Given the description of an element on the screen output the (x, y) to click on. 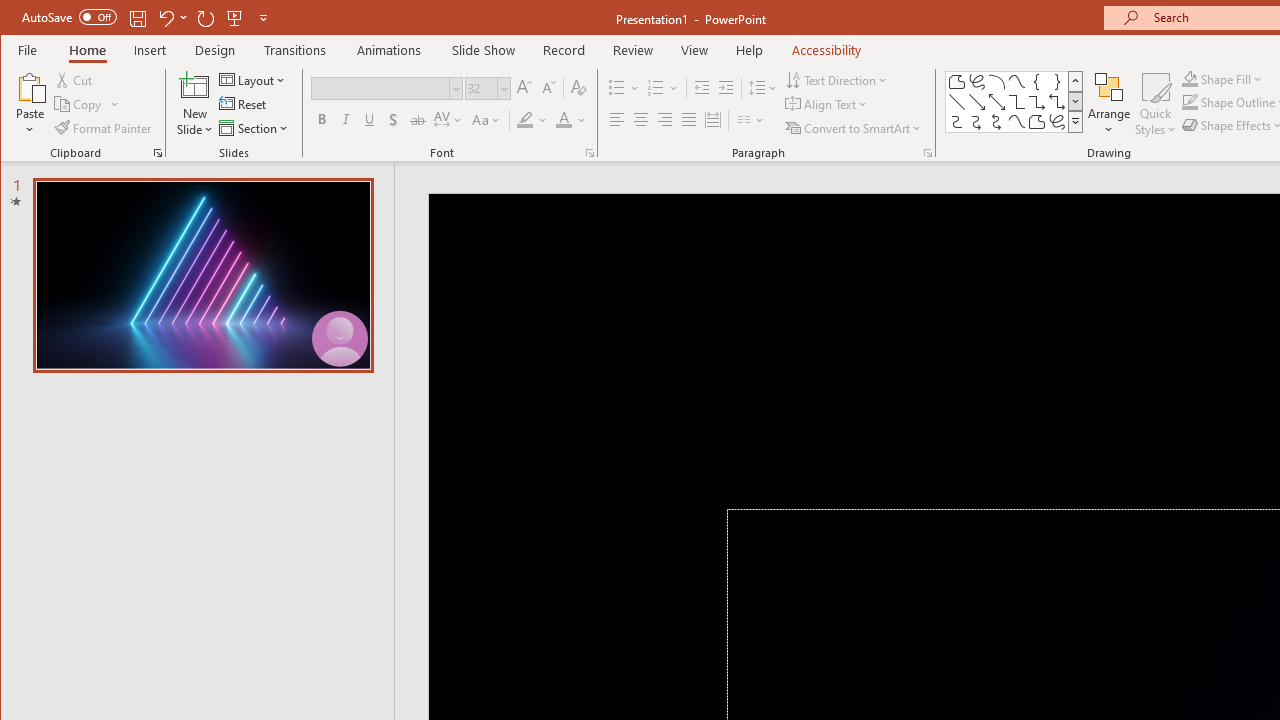
Line Arrow: Double (996, 102)
Connector: Curved Double-Arrow (996, 121)
